Given the description of an element on the screen output the (x, y) to click on. 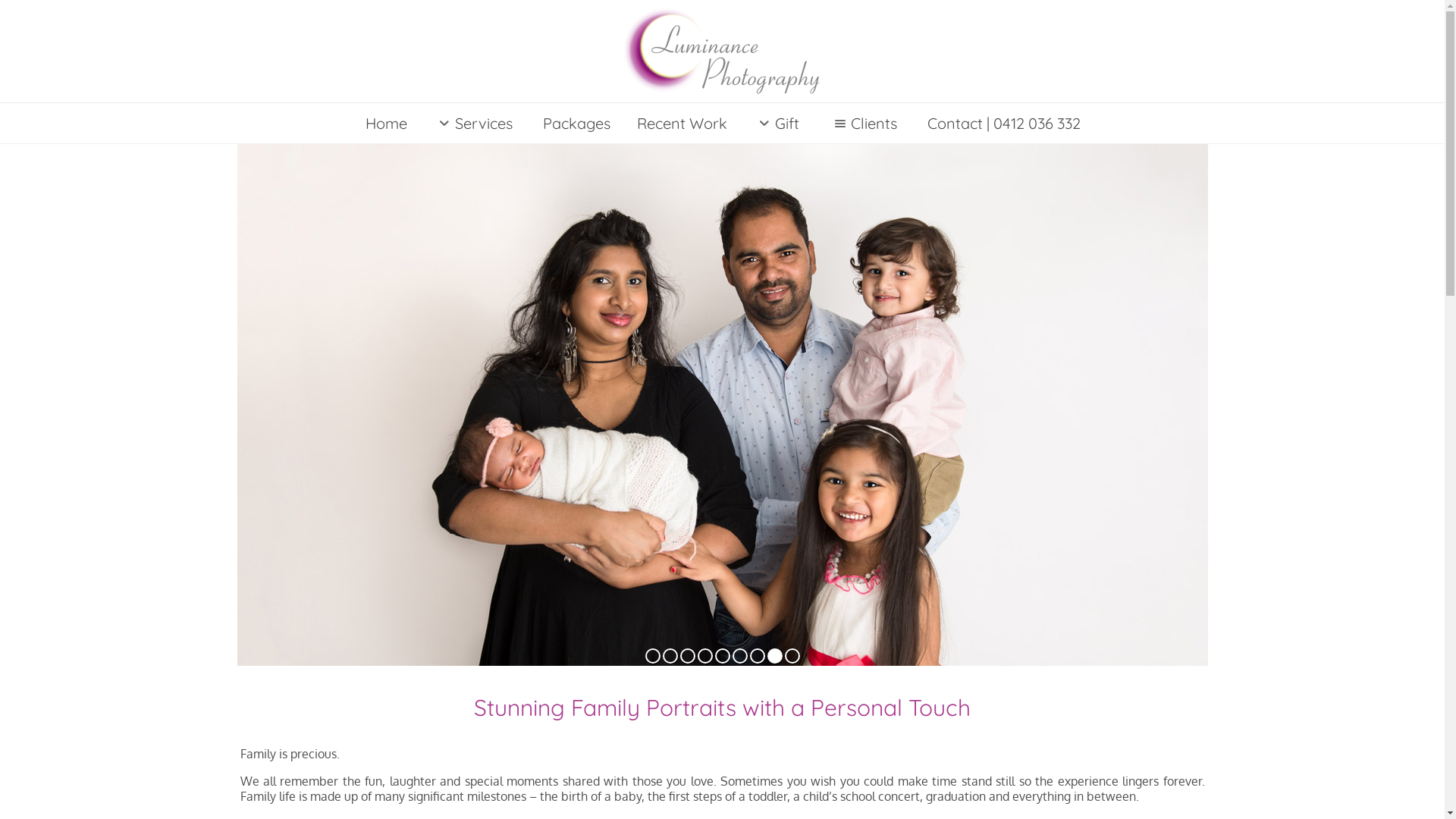
Recent Work Element type: text (681, 123)
0 Element type: text (669, 654)
0 Element type: text (774, 654)
Gift Element type: text (776, 123)
0 Element type: text (651, 654)
0 Element type: text (704, 654)
Home Element type: text (385, 123)
0 Element type: text (686, 654)
0 Element type: text (756, 654)
0 Element type: text (739, 654)
Services Element type: text (472, 123)
0 Element type: text (791, 654)
Contact | 0412 036 332 Element type: text (1002, 123)
0 Element type: text (721, 654)
Clients Element type: text (862, 123)
Packages Element type: text (576, 123)
